Given the description of an element on the screen output the (x, y) to click on. 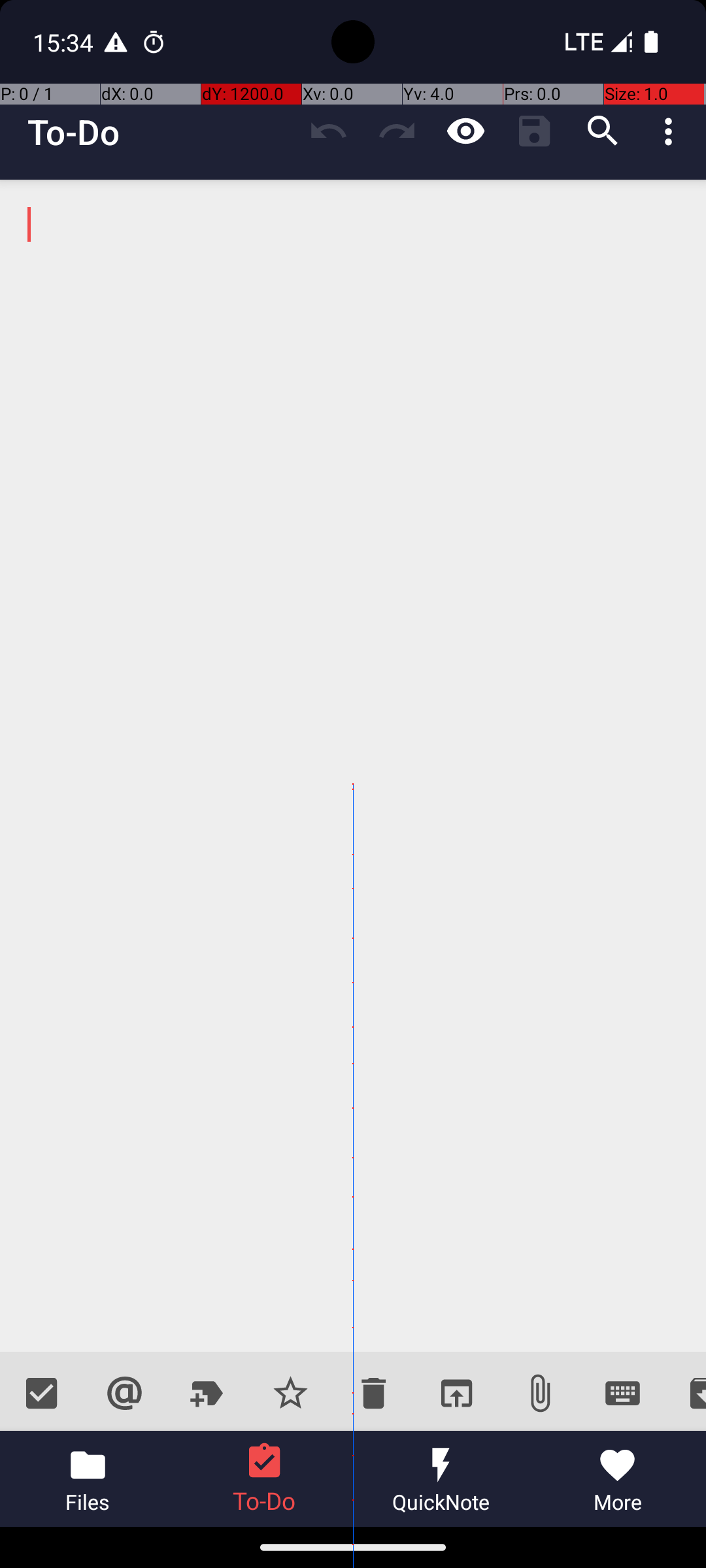
Toggle done Element type: android.widget.ImageView (41, 1392)
Add context Element type: android.widget.ImageView (124, 1392)
Add project Element type: android.widget.ImageView (207, 1392)
Archive completed tasks Element type: android.widget.ImageView (685, 1392)
